Given the description of an element on the screen output the (x, y) to click on. 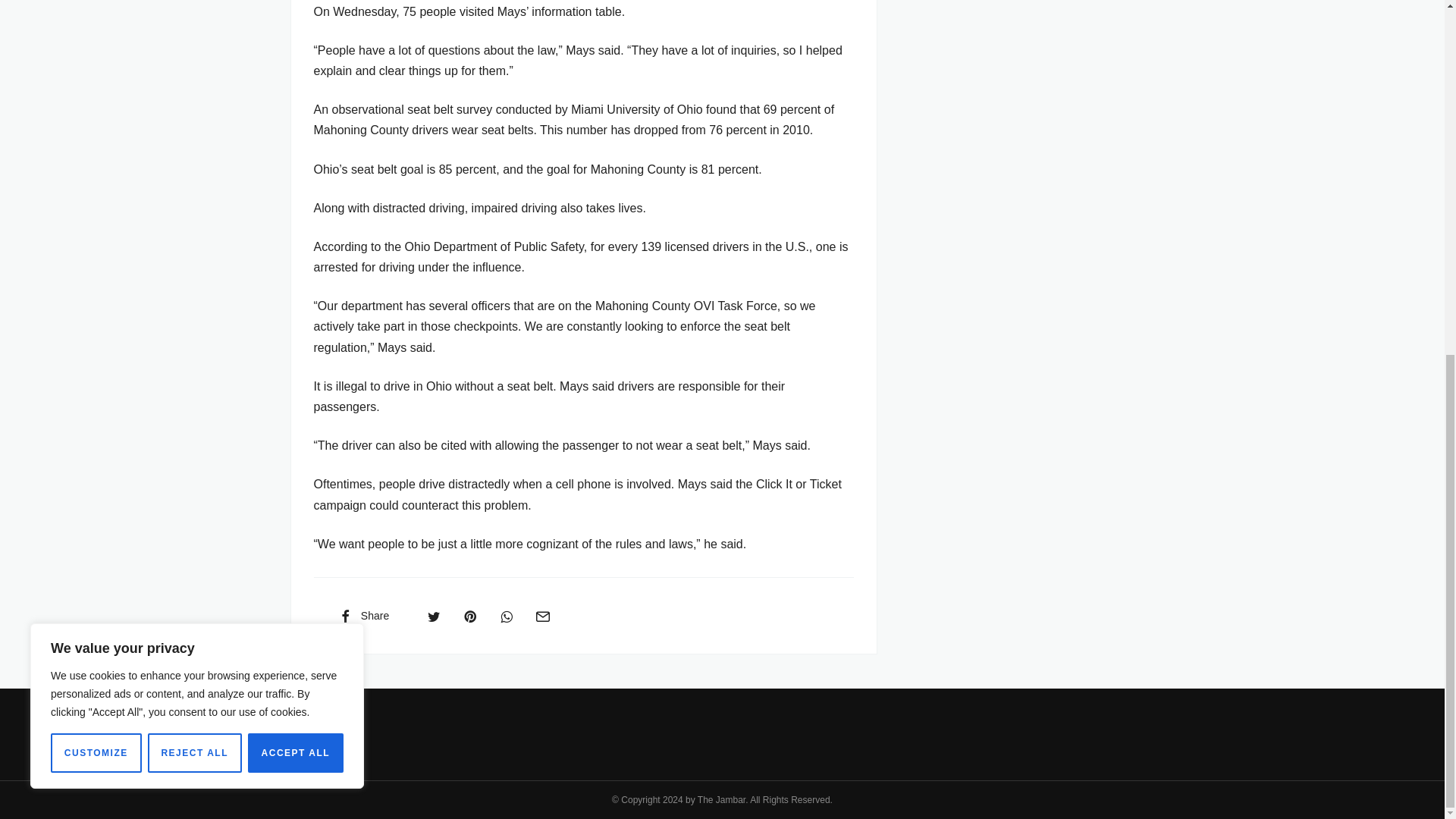
ACCEPT ALL (295, 130)
Share via Email (542, 615)
Pin this Post (469, 615)
Share on Whatsapp (506, 615)
REJECT ALL (194, 130)
CUSTOMIZE (95, 130)
Share on Twitter (433, 615)
Share on Facebook (363, 615)
